Given the description of an element on the screen output the (x, y) to click on. 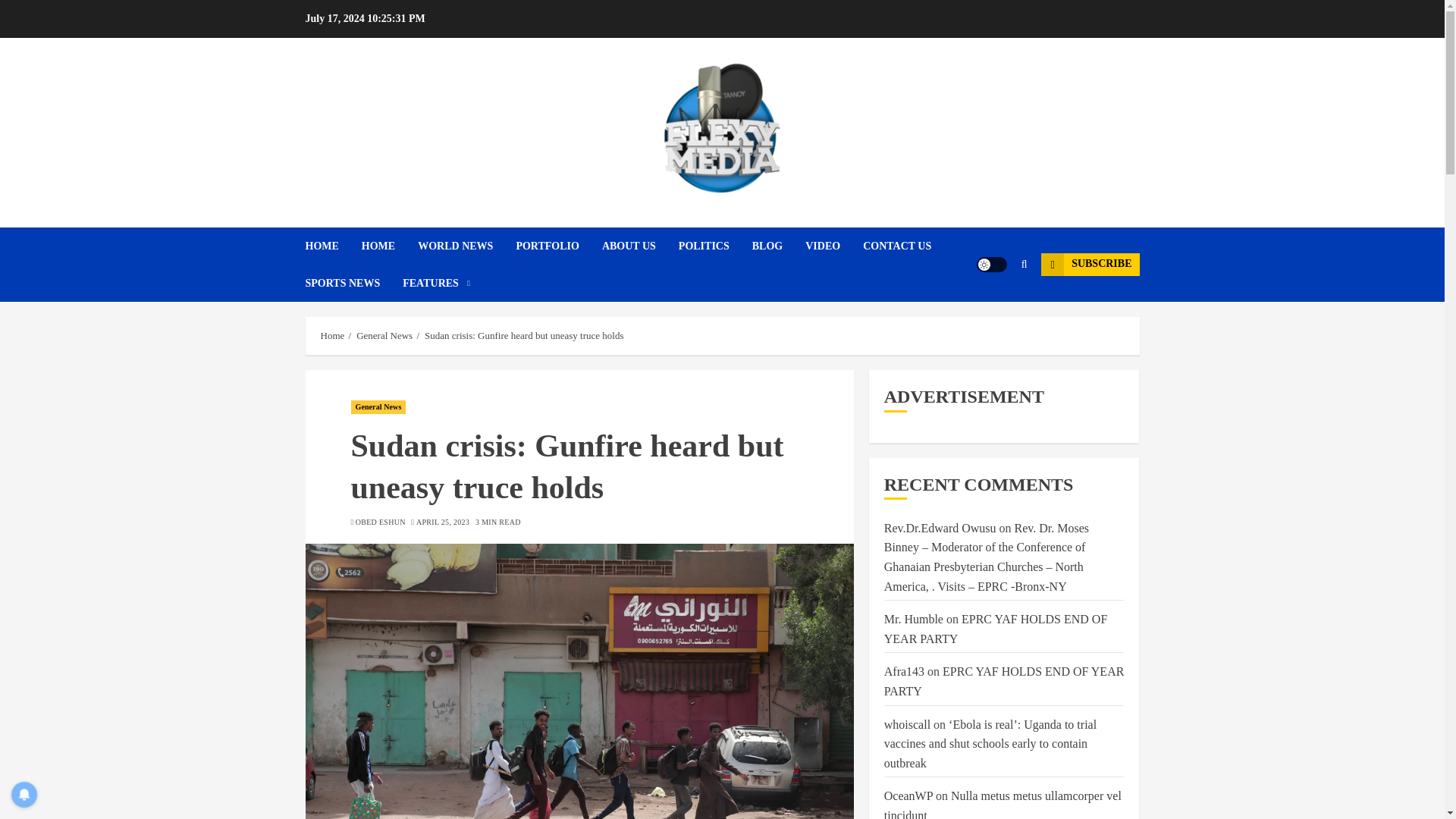
SPORTS NEWS (353, 283)
ABOUT US (640, 245)
Search (994, 309)
POLITICS (715, 245)
HOME (332, 245)
CONTACT US (908, 245)
OBED ESHUN (380, 521)
Sudan crisis: Gunfire heard but uneasy truce holds (524, 336)
WORLD NEWS (466, 245)
APRIL 25, 2023 (442, 521)
SUBSCRIBE (1089, 264)
General News (384, 336)
Search (1023, 264)
VIDEO (834, 245)
Home (331, 336)
